Given the description of an element on the screen output the (x, y) to click on. 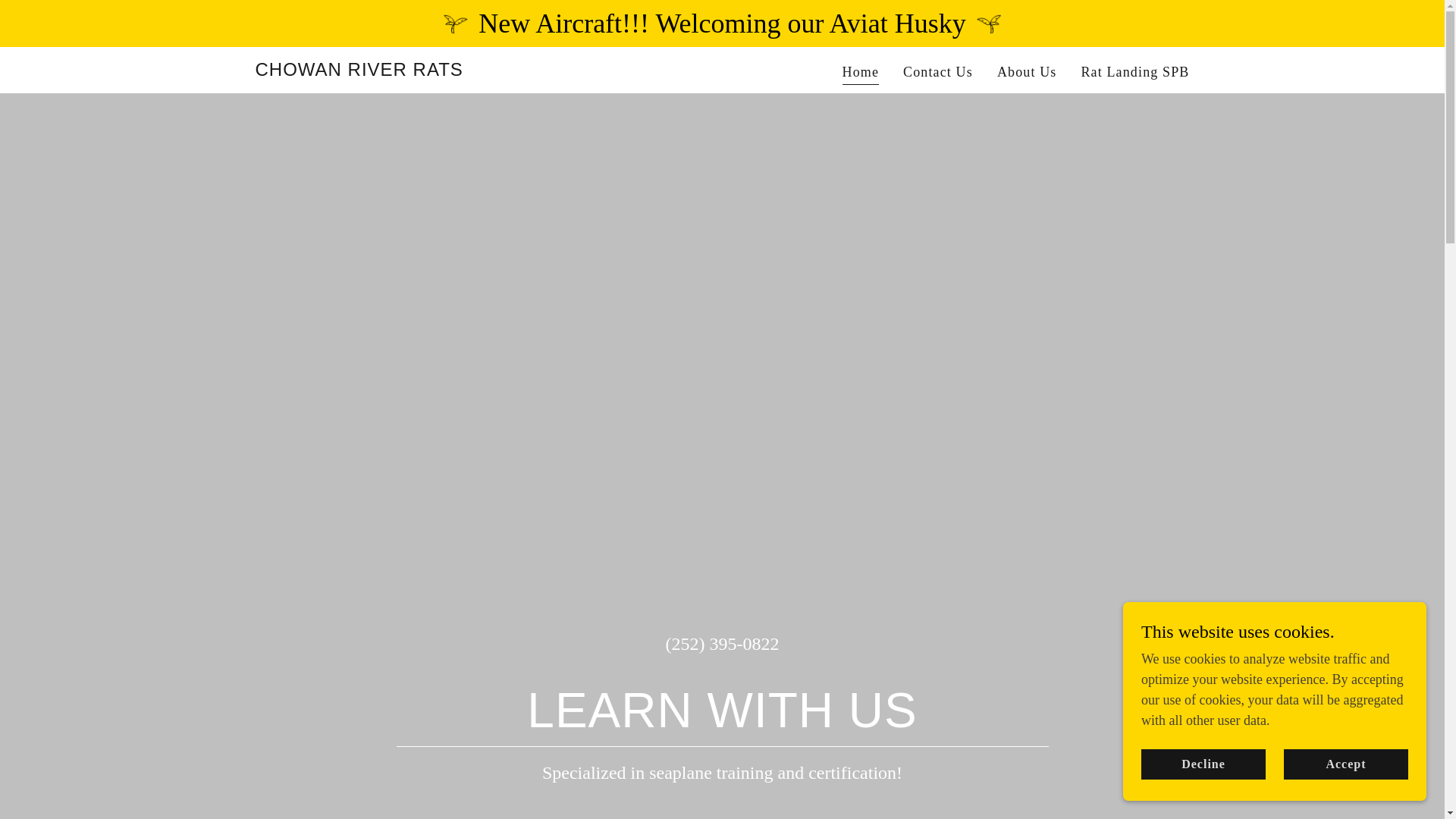
Contact Us (937, 71)
Decline (1203, 764)
Chowan River Rats (358, 70)
About Us (1026, 71)
Rat Landing SPB (1134, 71)
Home (860, 74)
Accept (1345, 764)
CHOWAN RIVER RATS (358, 70)
